Given the description of an element on the screen output the (x, y) to click on. 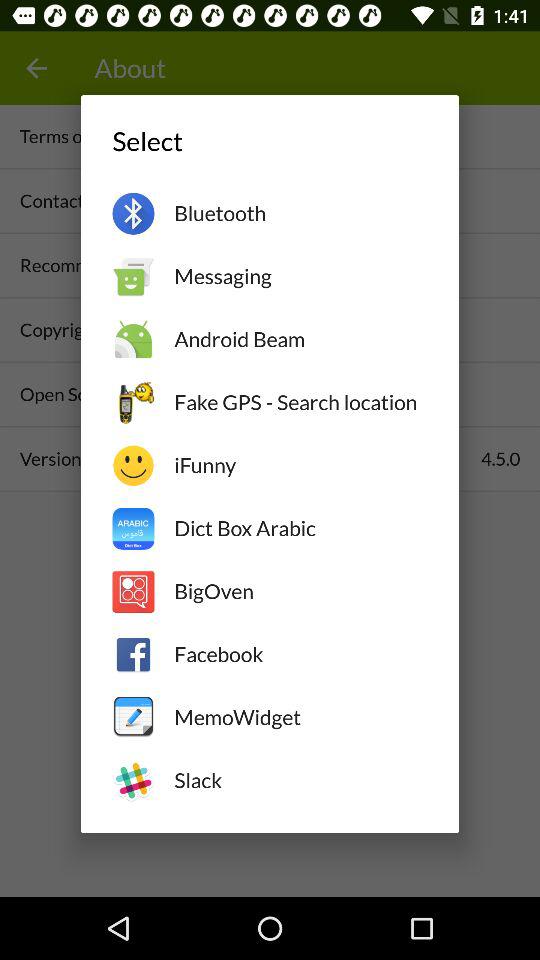
flip to the android beam icon (300, 339)
